Given the description of an element on the screen output the (x, y) to click on. 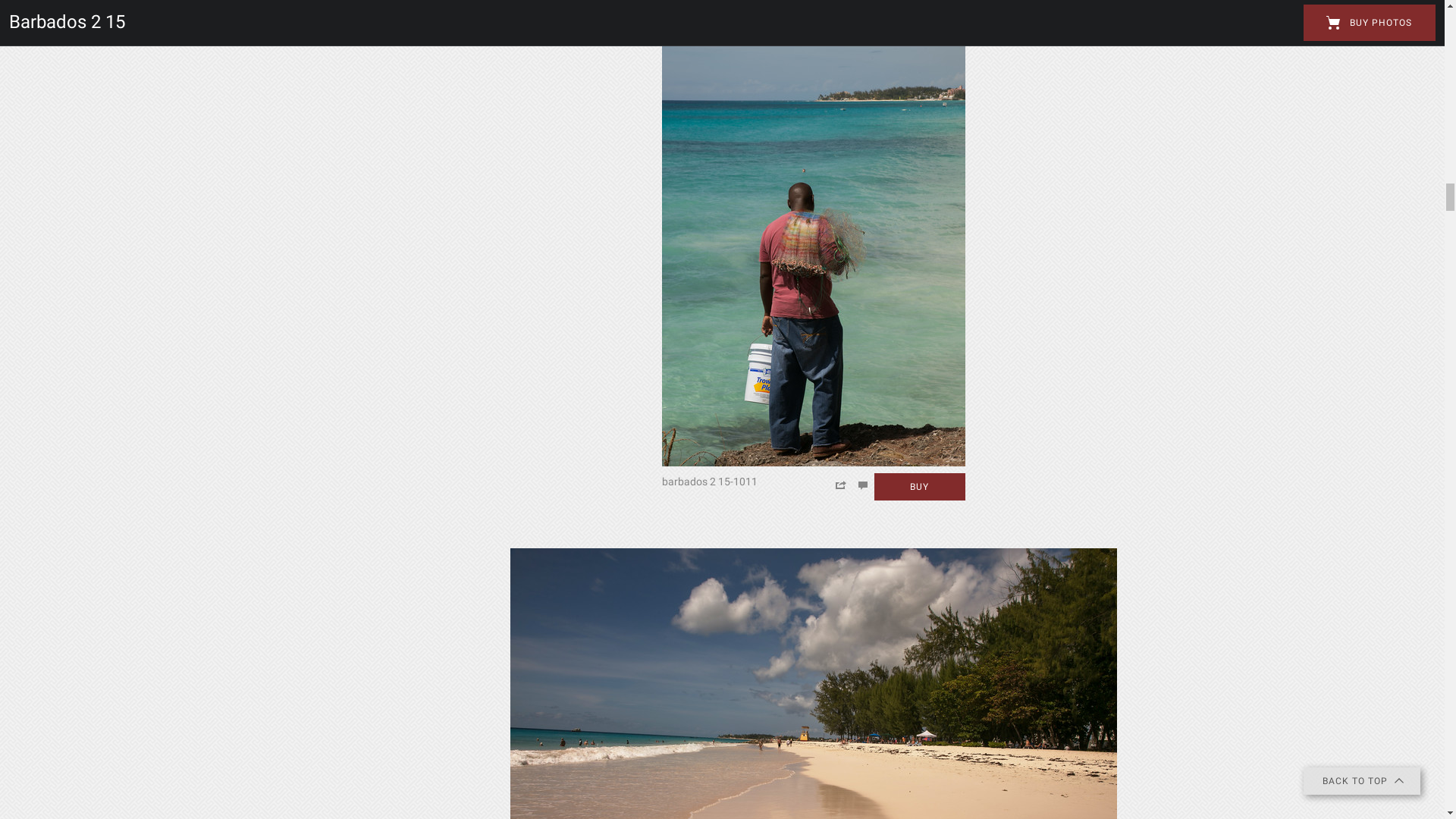
4 Element type: text (820, 358)
BUY Element type: text (1070, 801)
TRAVEL Element type: text (55, 194)
2 Element type: text (770, 358)
3 Element type: text (796, 358)
5 Element type: text (846, 358)
IMAGES ON MANITOBA Element type: text (92, 162)
Comment Element type: hover (1013, 800)
9 Element type: text (879, 358)
BUY PHOTOS Element type: text (1360, 312)
Search "Barbados 2 15" for photos Element type: hover (1369, 22)
SmugMug Element type: hover (59, 22)
Share Element type: hover (990, 800)
A BIT OF EVERYTHING Element type: text (89, 225)
Slideshow Element type: hover (1276, 312)
NATURE Element type: text (55, 131)
ChrisMcWilliamsPhotography Element type: text (728, 83)
1 Element type: text (746, 358)
HOME Element type: text (51, 100)
Share Gallery Element type: hover (1239, 312)
Travel Element type: text (241, 277)
